Given the description of an element on the screen output the (x, y) to click on. 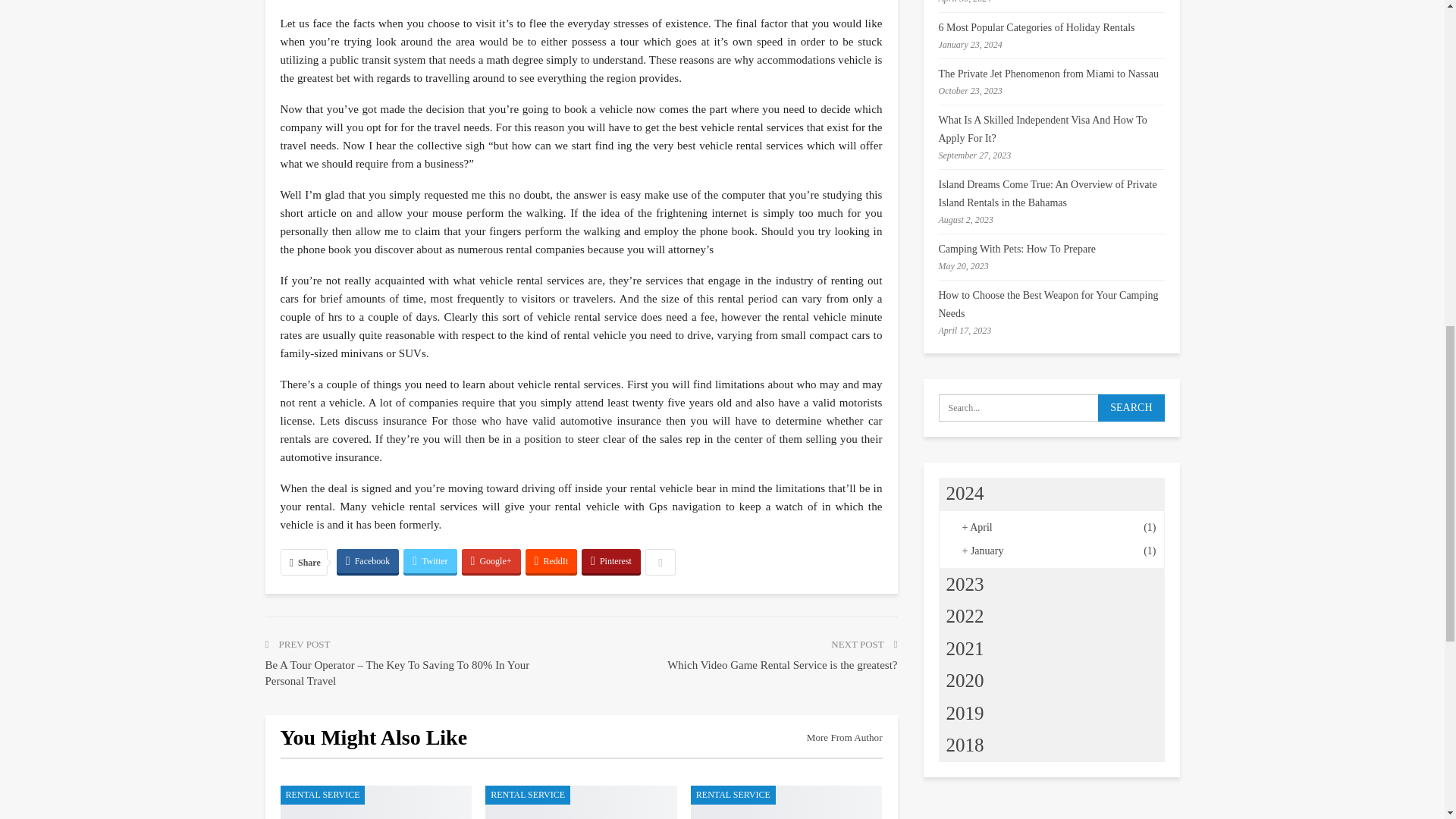
Game Rental Service Reviews (786, 802)
Brookline Apartment Availability and Average Rent Price (376, 802)
ReddIt (551, 560)
Facebook (367, 560)
Search (1130, 407)
Twitter (430, 560)
Which Video Game Rental Service is the greatest? (580, 802)
Search (1130, 407)
